Given the description of an element on the screen output the (x, y) to click on. 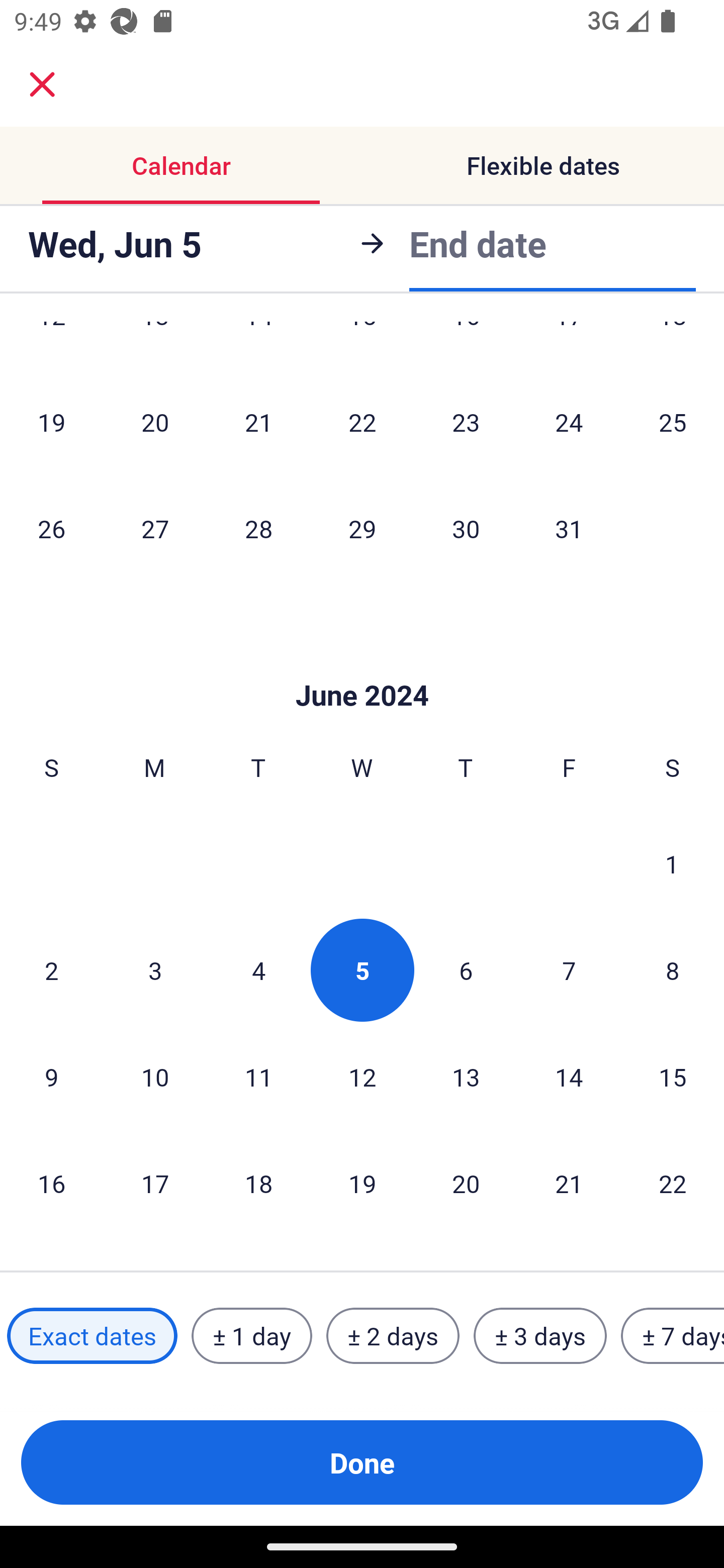
close. (42, 84)
Flexible dates (542, 164)
End date (477, 240)
19 Sunday, May 19, 2024 (51, 421)
20 Monday, May 20, 2024 (155, 421)
21 Tuesday, May 21, 2024 (258, 421)
22 Wednesday, May 22, 2024 (362, 421)
23 Thursday, May 23, 2024 (465, 421)
24 Friday, May 24, 2024 (569, 421)
25 Saturday, May 25, 2024 (672, 421)
26 Sunday, May 26, 2024 (51, 528)
27 Monday, May 27, 2024 (155, 528)
28 Tuesday, May 28, 2024 (258, 528)
29 Wednesday, May 29, 2024 (362, 528)
30 Thursday, May 30, 2024 (465, 528)
31 Friday, May 31, 2024 (569, 528)
Skip to Done (362, 664)
1 Saturday, June 1, 2024 (672, 863)
2 Sunday, June 2, 2024 (51, 970)
3 Monday, June 3, 2024 (155, 970)
4 Tuesday, June 4, 2024 (258, 970)
6 Thursday, June 6, 2024 (465, 970)
7 Friday, June 7, 2024 (569, 970)
8 Saturday, June 8, 2024 (672, 970)
9 Sunday, June 9, 2024 (51, 1076)
10 Monday, June 10, 2024 (155, 1076)
11 Tuesday, June 11, 2024 (258, 1076)
12 Wednesday, June 12, 2024 (362, 1076)
13 Thursday, June 13, 2024 (465, 1076)
14 Friday, June 14, 2024 (569, 1076)
15 Saturday, June 15, 2024 (672, 1076)
16 Sunday, June 16, 2024 (51, 1183)
17 Monday, June 17, 2024 (155, 1183)
18 Tuesday, June 18, 2024 (258, 1183)
19 Wednesday, June 19, 2024 (362, 1183)
20 Thursday, June 20, 2024 (465, 1183)
21 Friday, June 21, 2024 (569, 1183)
22 Saturday, June 22, 2024 (672, 1183)
Exact dates (92, 1335)
± 1 day (251, 1335)
± 2 days (392, 1335)
± 3 days (539, 1335)
± 7 days (672, 1335)
Done (361, 1462)
